Given the description of an element on the screen output the (x, y) to click on. 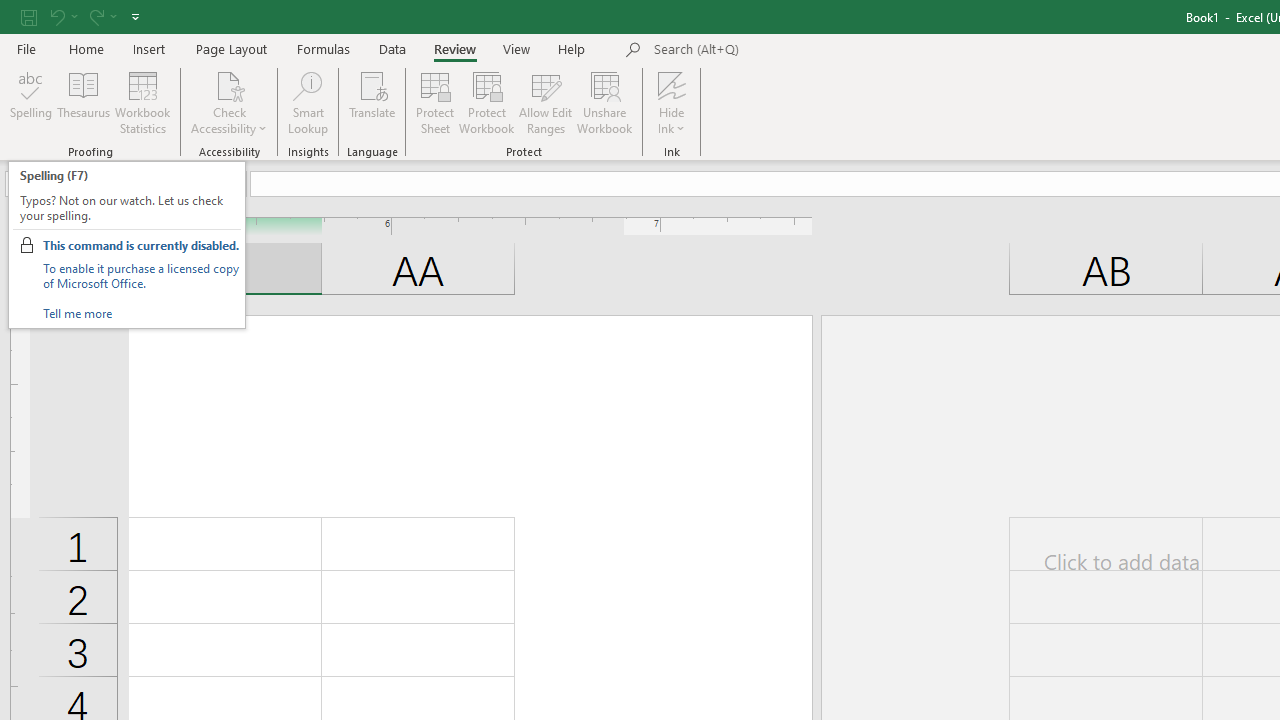
Thesaurus... (83, 102)
Translate (372, 102)
Protect Workbook... (486, 102)
